Given the description of an element on the screen output the (x, y) to click on. 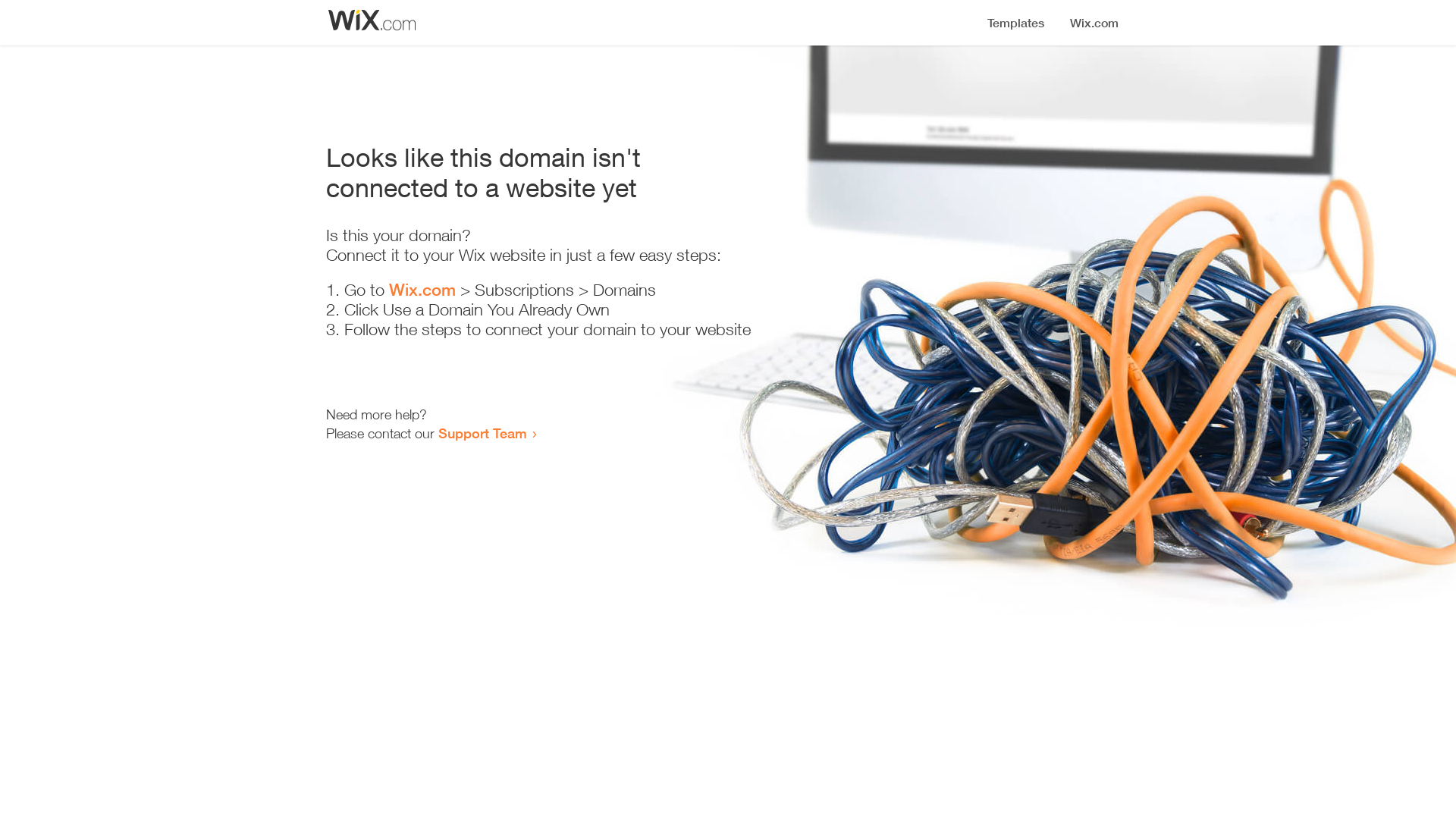
Support Team Element type: text (482, 432)
Wix.com Element type: text (422, 289)
